Given the description of an element on the screen output the (x, y) to click on. 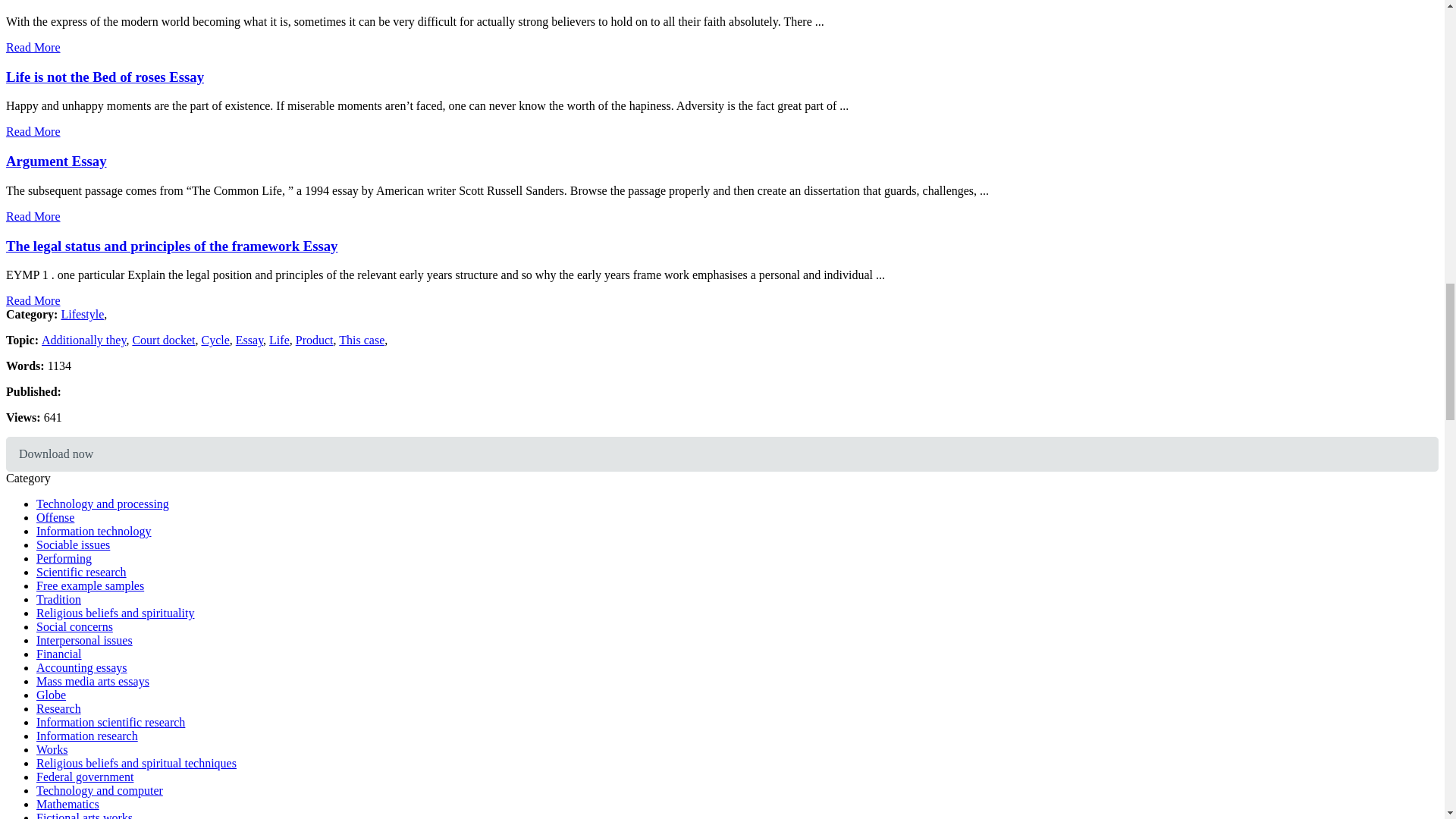
Read More (33, 215)
Read More (33, 131)
Life (279, 339)
Additionally they (83, 339)
Court docket (163, 339)
Product (314, 339)
This case (361, 339)
Read More (33, 47)
Read More (33, 300)
Lifestyle (82, 314)
